Given the description of an element on the screen output the (x, y) to click on. 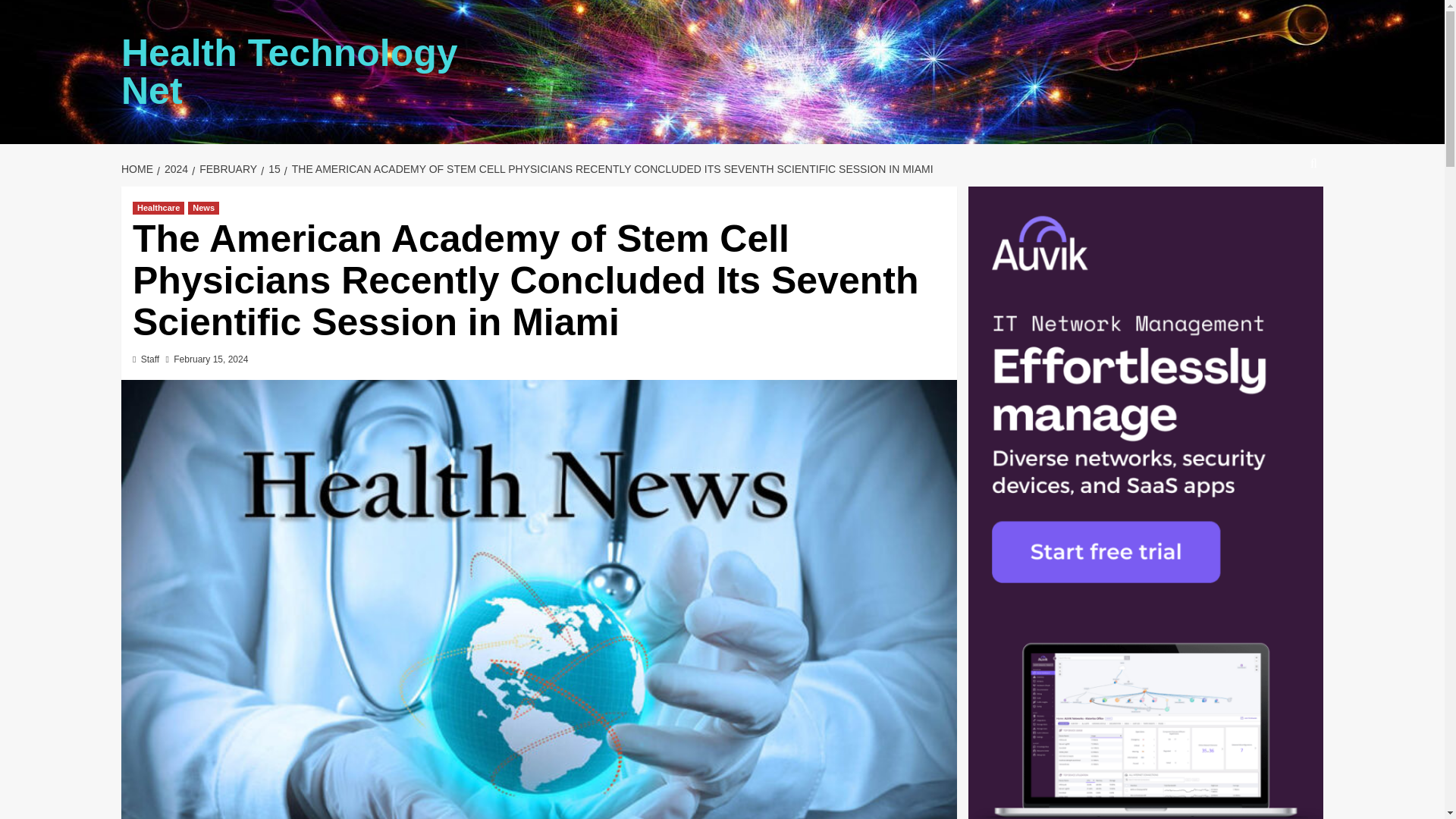
HOME (138, 168)
Health Technology Net (289, 71)
Staff (149, 358)
Search (1278, 209)
News (203, 207)
FEBRUARY (226, 168)
2024 (174, 168)
15 (271, 168)
February 15, 2024 (210, 358)
Healthcare (158, 207)
